Given the description of an element on the screen output the (x, y) to click on. 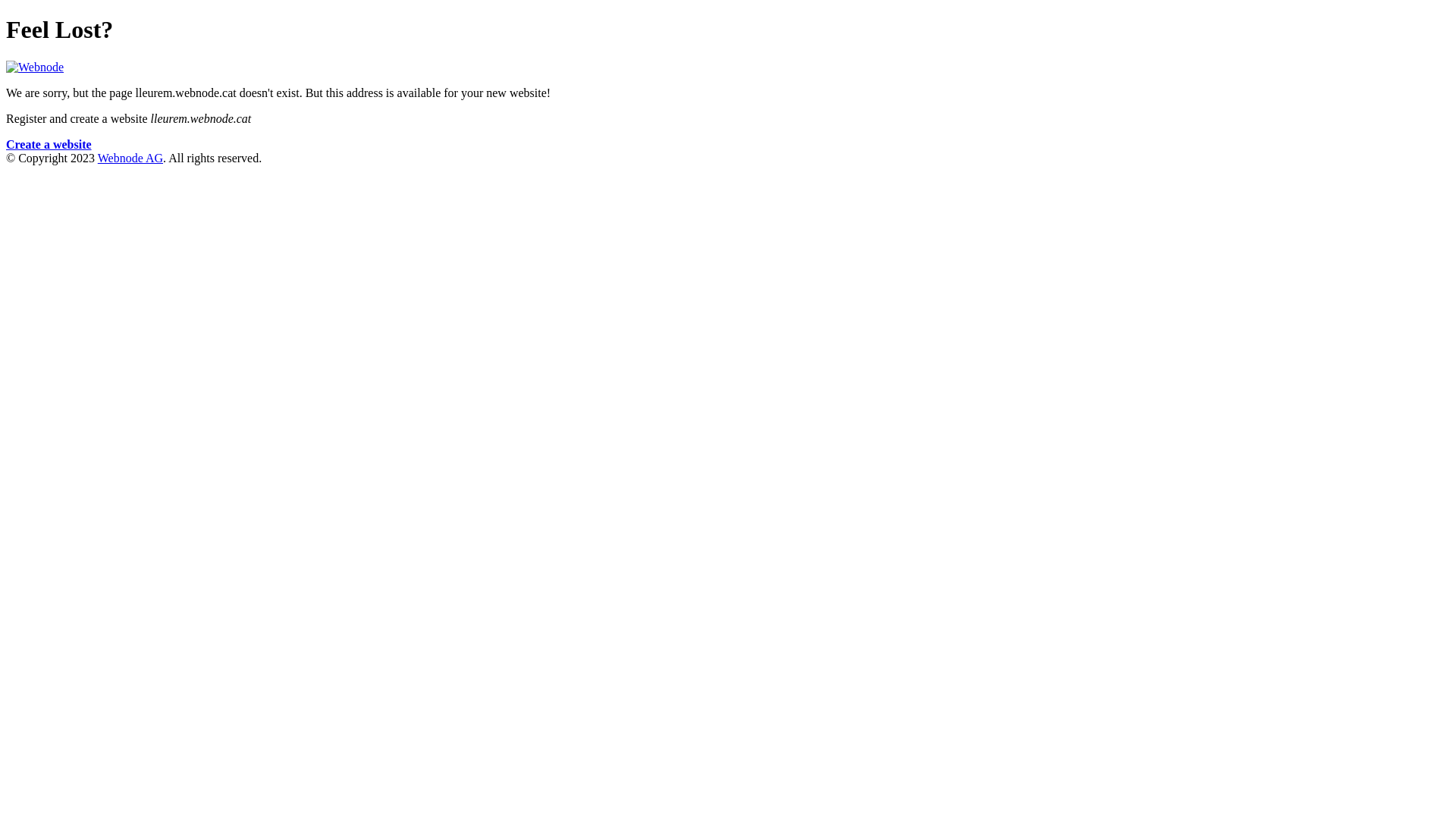
Create a website Element type: text (48, 144)
Webnode AG Element type: text (130, 157)
